Given the description of an element on the screen output the (x, y) to click on. 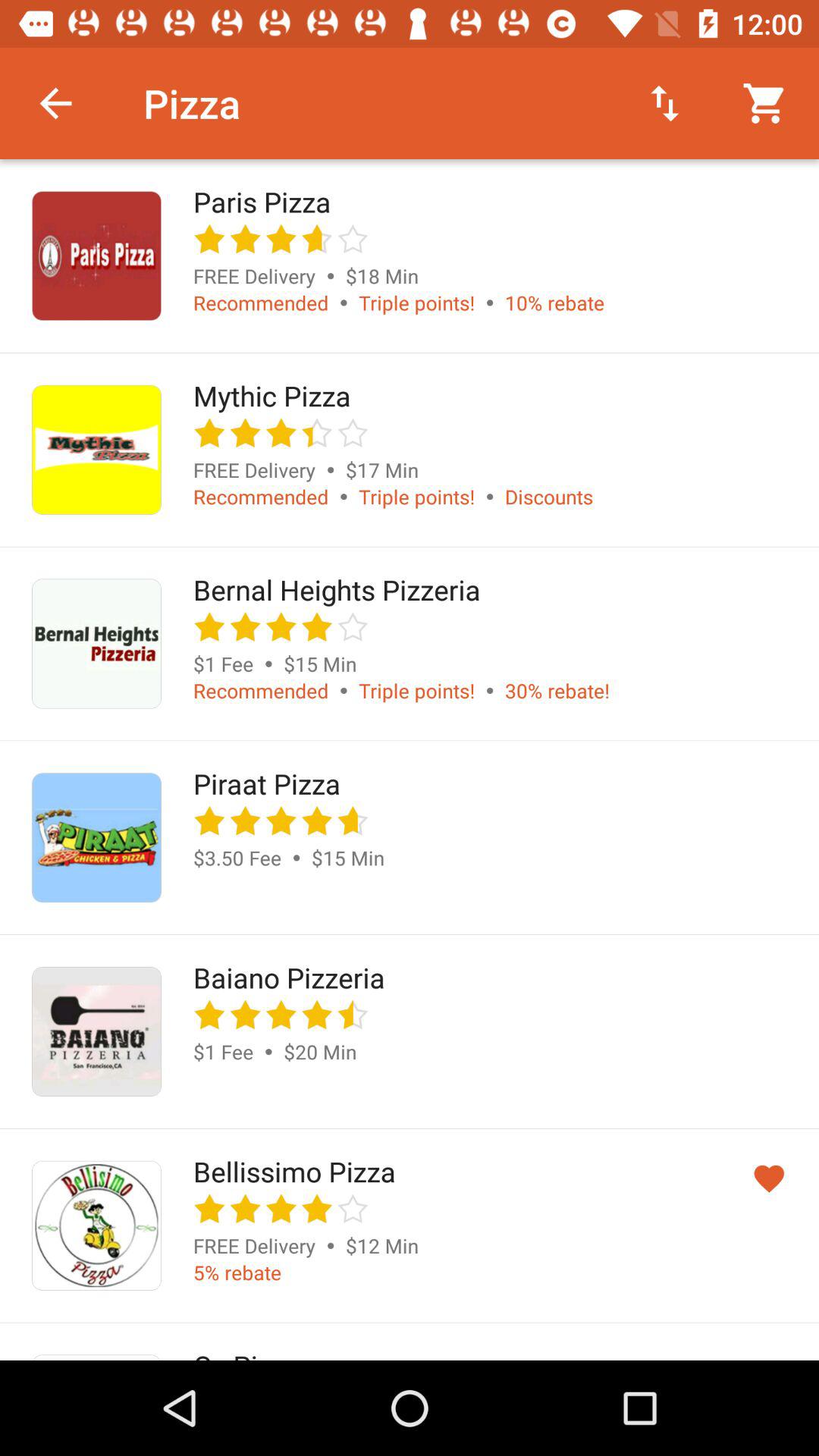
choose item next to pizza item (55, 103)
